Given the description of an element on the screen output the (x, y) to click on. 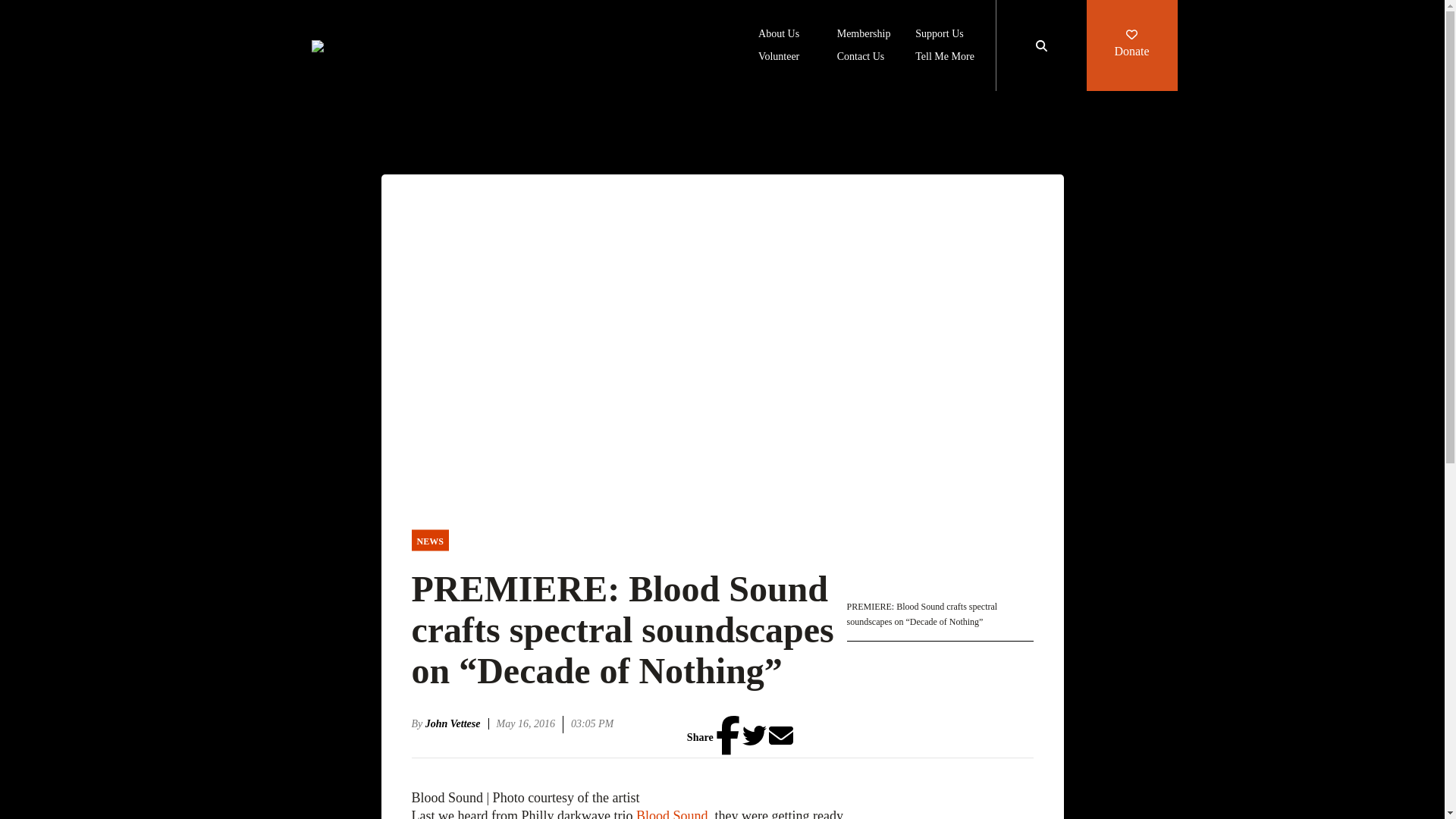
Tell Me More (944, 57)
Volunteer (778, 57)
Contact Us (861, 57)
Support Us (938, 35)
Donate (1131, 45)
About Us (778, 35)
Membership (864, 35)
Blood Sound (671, 813)
John Vettese (457, 723)
